Given the description of an element on the screen output the (x, y) to click on. 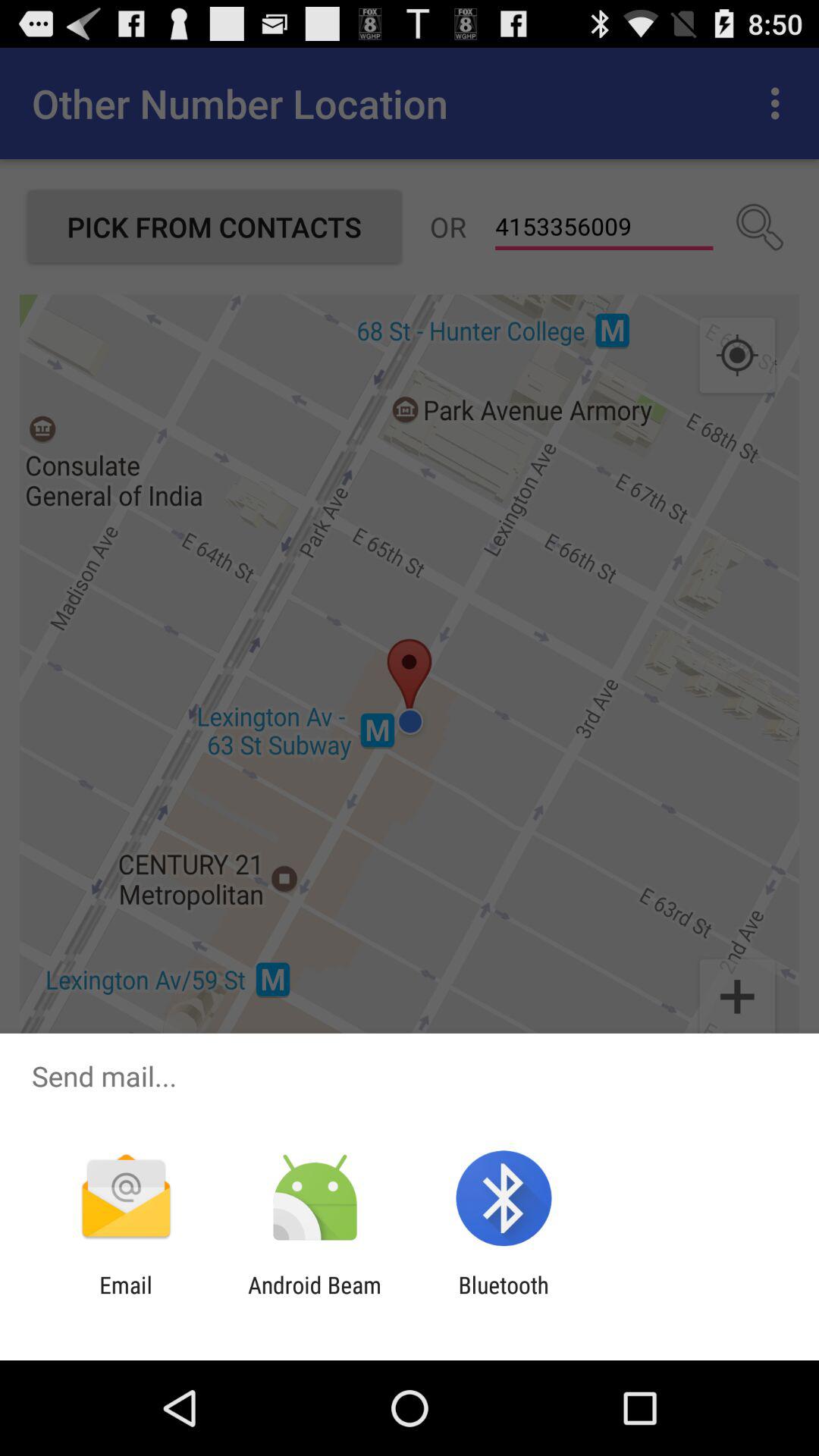
click icon to the left of bluetooth app (314, 1298)
